Given the description of an element on the screen output the (x, y) to click on. 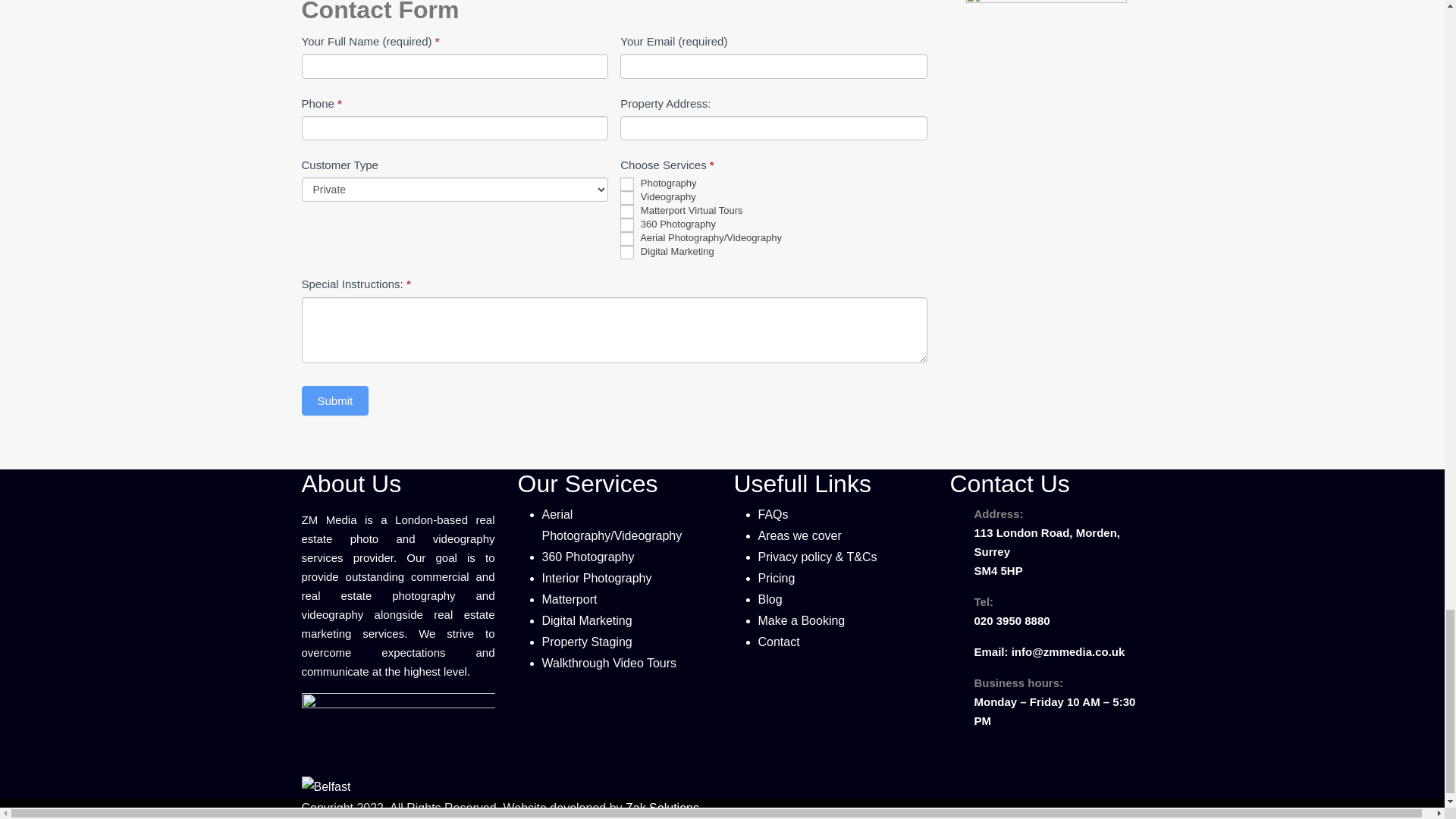
Videography (626, 197)
360 Photography (626, 224)
Matterport Virtual Tours (626, 211)
Photography (626, 183)
Digital Marketing (626, 252)
